Given the description of an element on the screen output the (x, y) to click on. 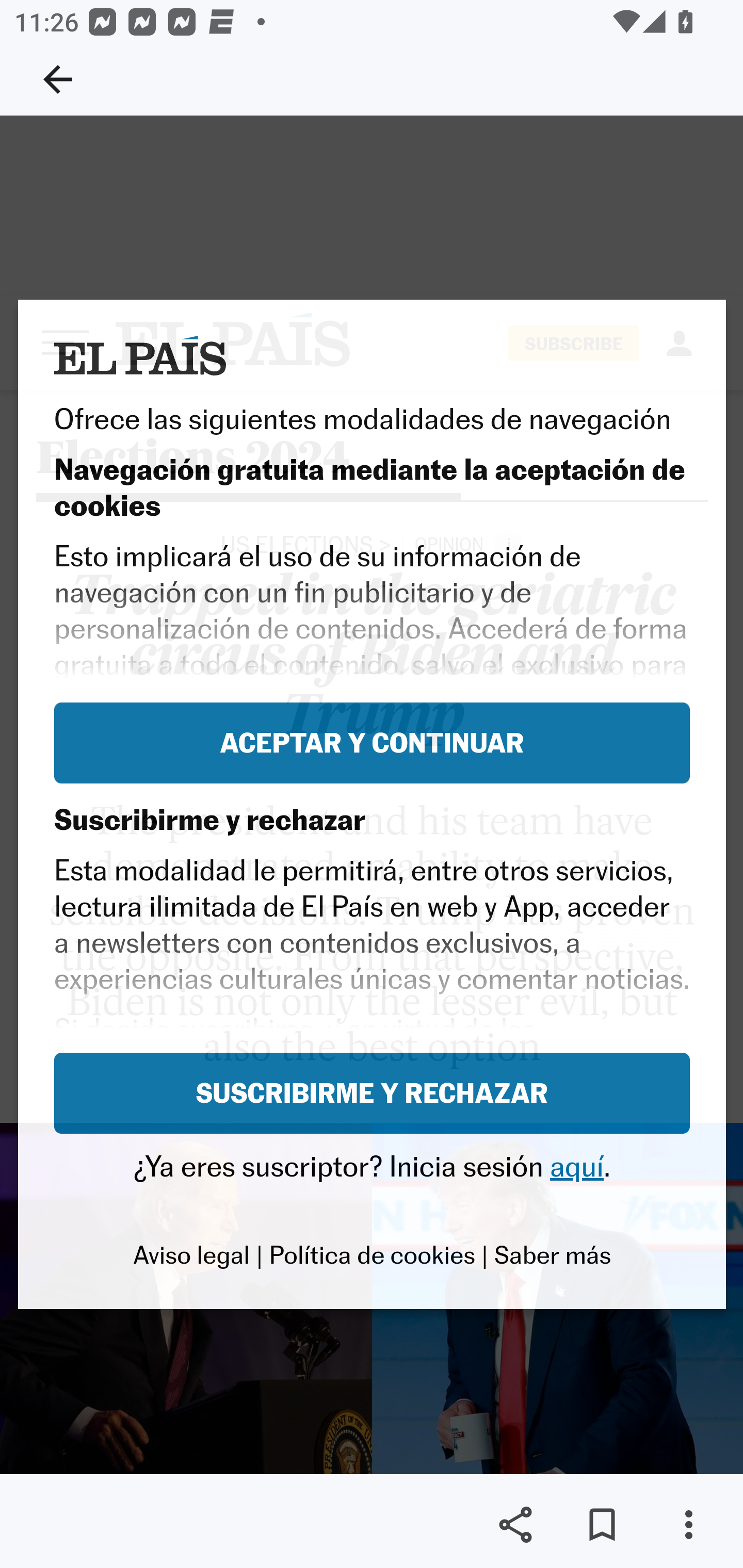
Navigate up (57, 79)
ACEPTAR Y CONTINUAR (372, 742)
SUSCRIBIRME Y RECHAZAR (372, 1092)
aquí (576, 1165)
Aviso legal (191, 1255)
Política de cookies (372, 1255)
Saber más (552, 1255)
Share (514, 1524)
Save for later (601, 1524)
More options (688, 1524)
